Given the description of an element on the screen output the (x, y) to click on. 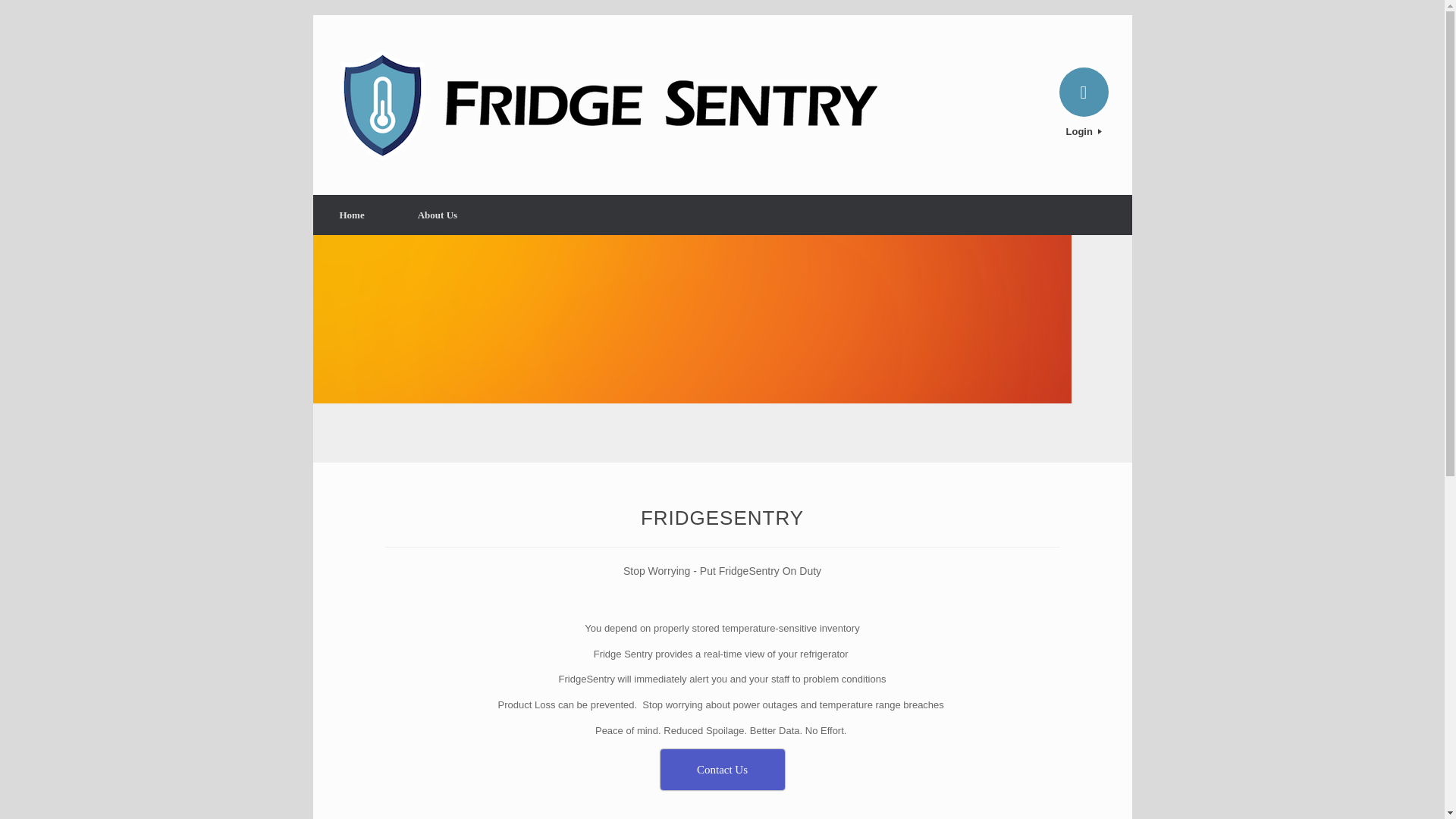
FridgeSentry.ca (608, 104)
About Us (437, 214)
Contact Us (721, 769)
Login (1083, 131)
Home (351, 214)
